Given the description of an element on the screen output the (x, y) to click on. 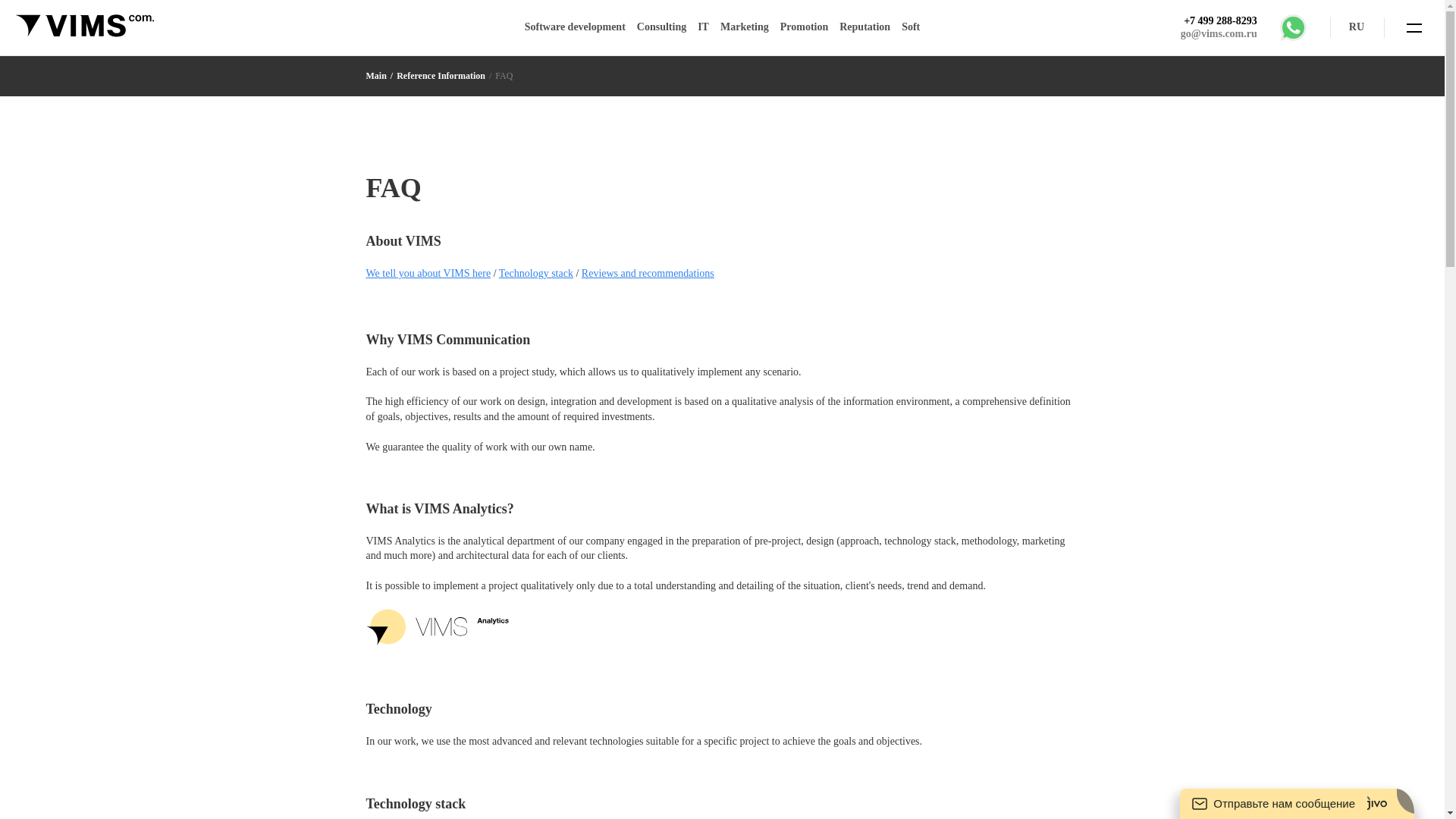
Reputation (864, 27)
Marketing (744, 27)
RU (1356, 27)
Promotion (804, 27)
Software development (575, 27)
Consulting (661, 27)
